Given the description of an element on the screen output the (x, y) to click on. 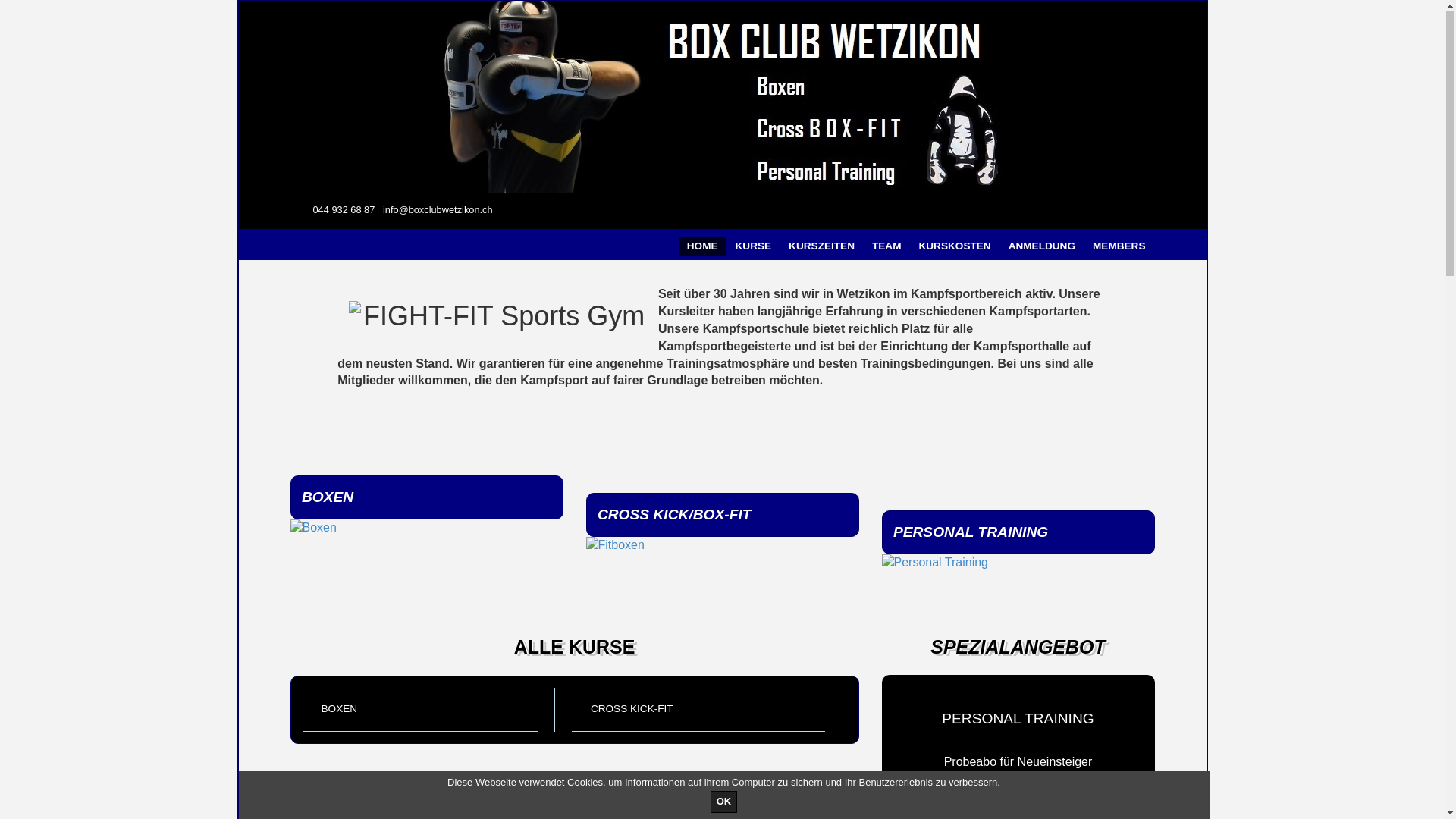
HOME Element type: text (702, 246)
FIGHT-FIT Sports Gym Element type: hover (721, 97)
KURSE Element type: text (753, 246)
MEMBERS Element type: text (1118, 246)
CROSS KICK/BOX-FIT Element type: text (721, 524)
Personal Training Element type: hover (1017, 563)
TEAM Element type: text (886, 246)
Fitboxen Element type: hover (721, 546)
PERSONAL TRAINING Element type: text (1017, 541)
Boxen Element type: hover (425, 528)
OK Element type: text (723, 802)
BOXEN Element type: text (425, 506)
KURSZEITEN Element type: text (821, 246)
ANMELDUNG Element type: text (1041, 246)
KURSKOSTEN Element type: text (954, 246)
FIGHT-FIT Sports Gym Element type: hover (497, 316)
